Given the description of an element on the screen output the (x, y) to click on. 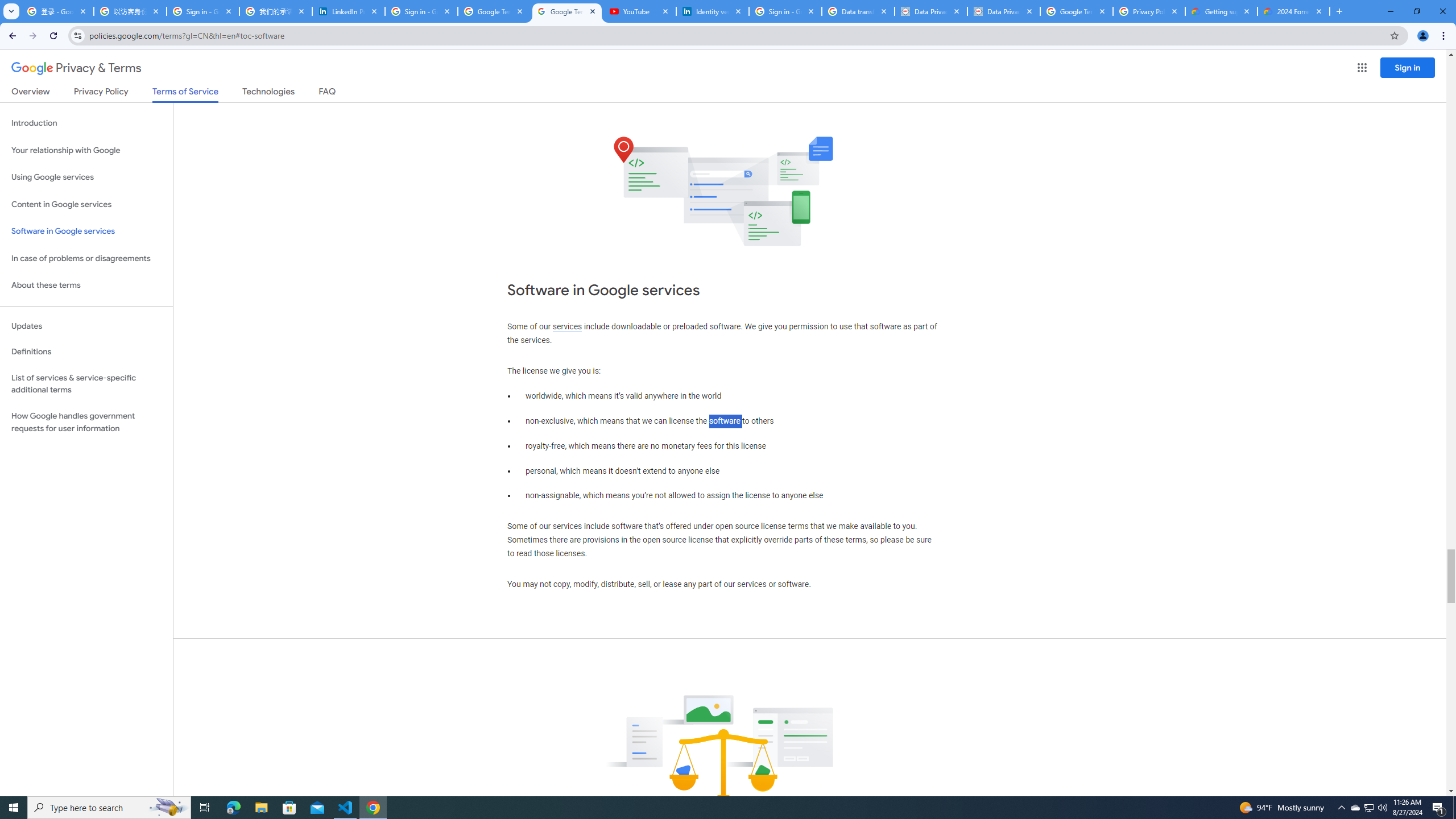
Definitions (86, 352)
Sign in - Google Accounts (202, 11)
Updates (86, 325)
In case of problems or disagreements (86, 258)
services (566, 326)
Overview (30, 93)
Using Google services (86, 176)
Content in Google services (86, 204)
Privacy Policy (100, 93)
